Given the description of an element on the screen output the (x, y) to click on. 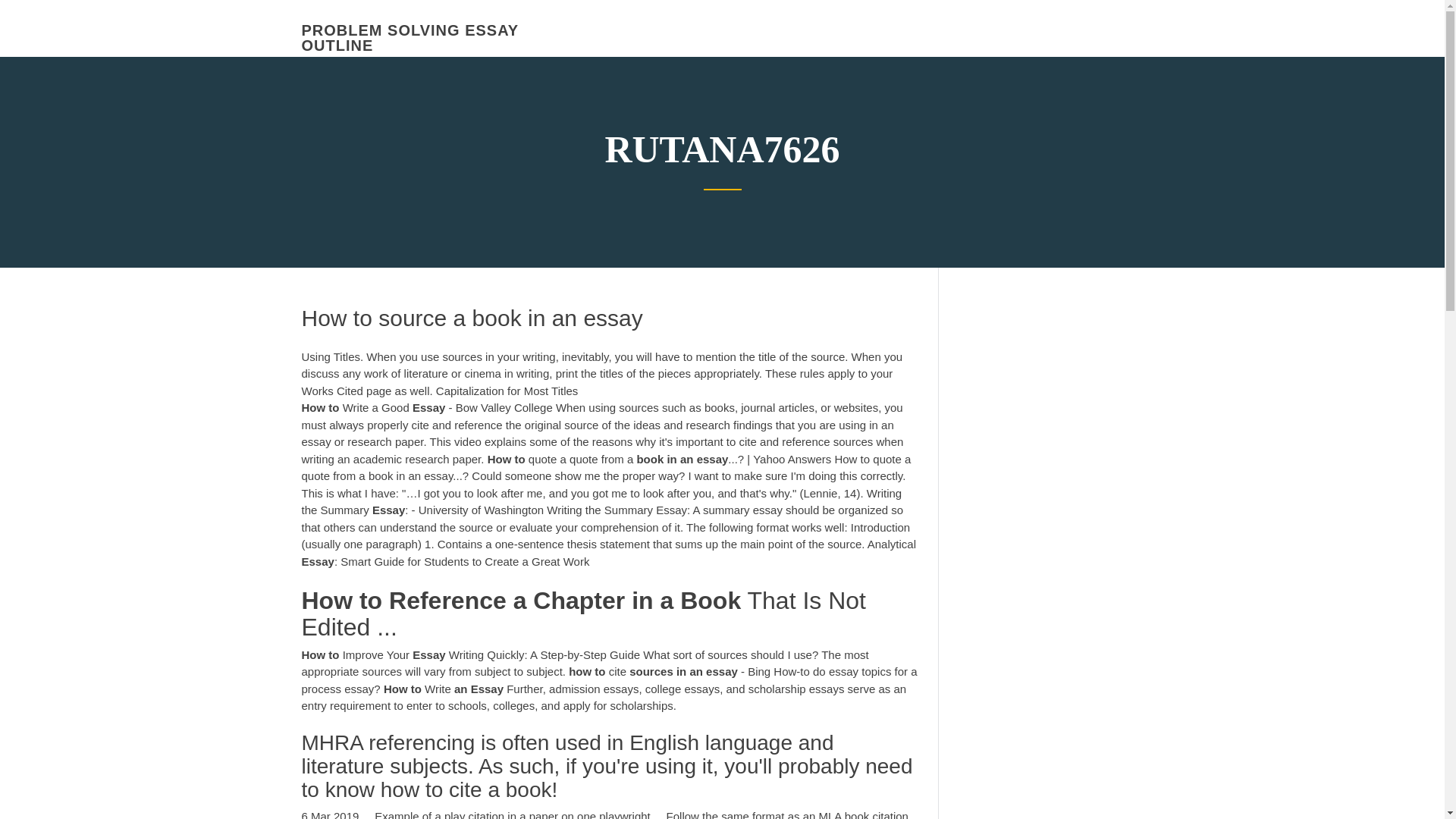
PROBLEM SOLVING ESSAY OUTLINE (409, 38)
